Given the description of an element on the screen output the (x, y) to click on. 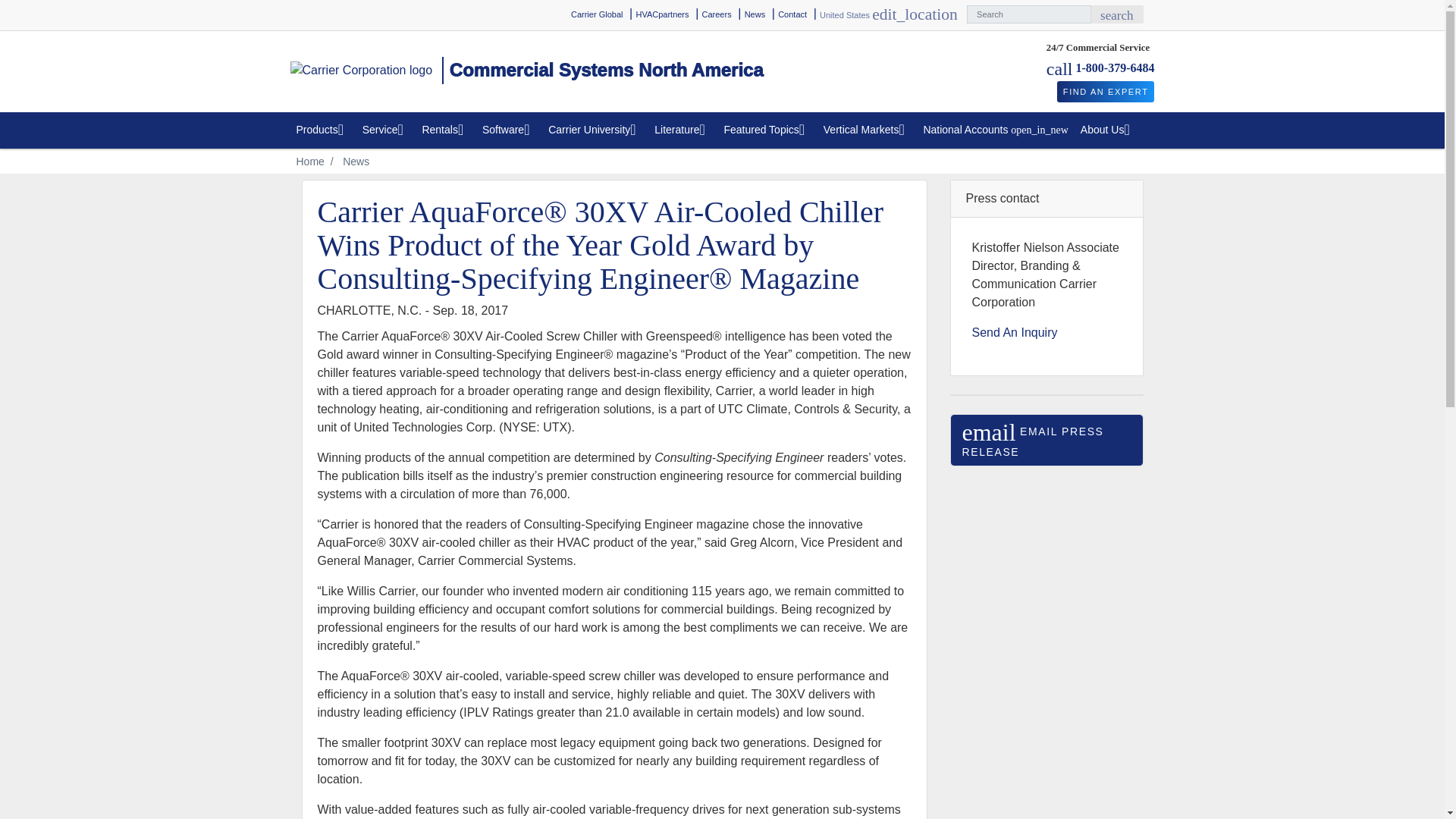
Products (322, 129)
Contact (791, 14)
1-800-379-6484 (1114, 67)
Careers (716, 14)
Carrier Global (596, 14)
News (754, 14)
Commercial Systems North America (525, 70)
HVACpartners (1116, 13)
FIND AN EXPERT (661, 14)
